Given the description of an element on the screen output the (x, y) to click on. 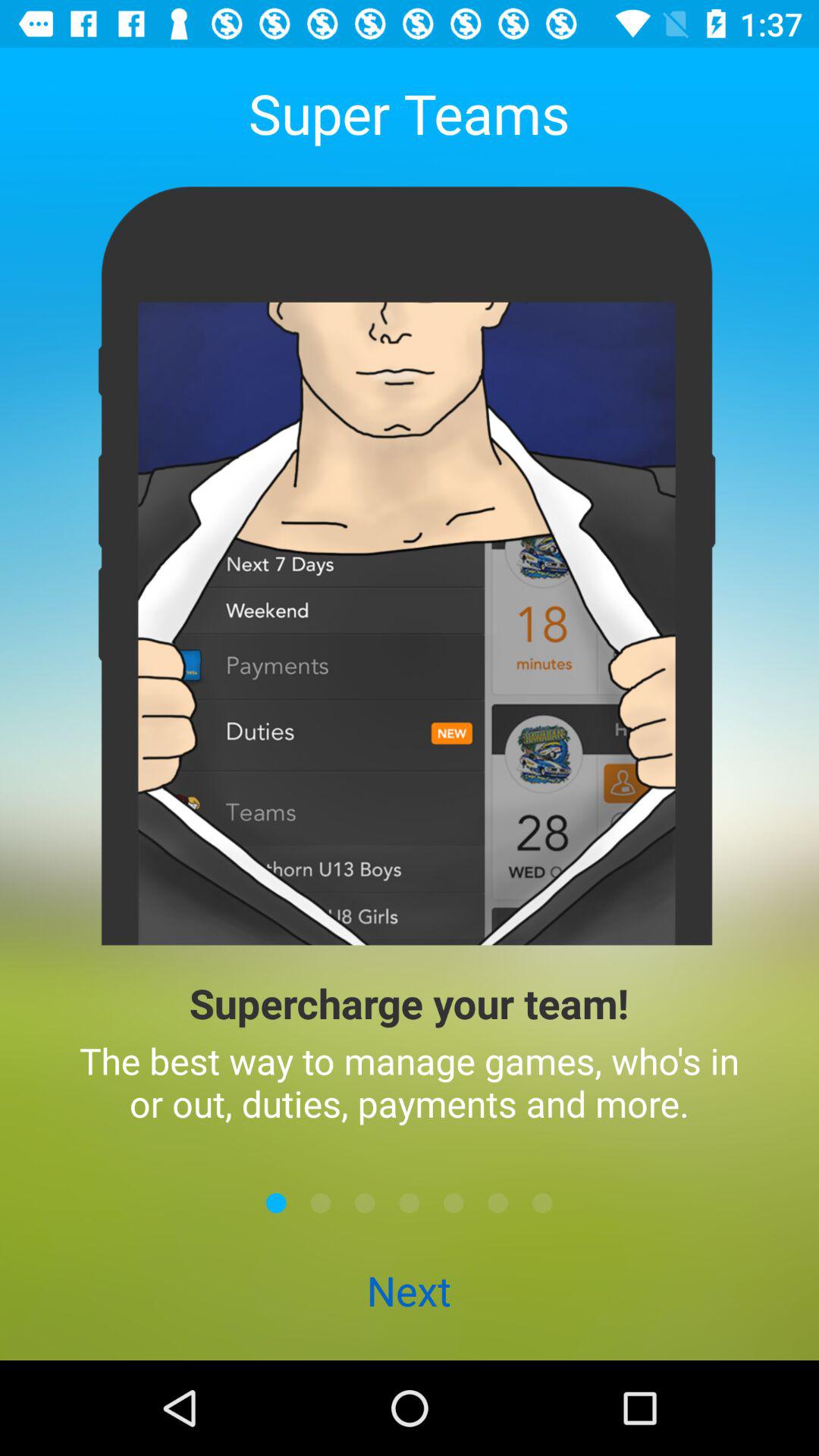
skip 6 tabs (498, 1203)
